Given the description of an element on the screen output the (x, y) to click on. 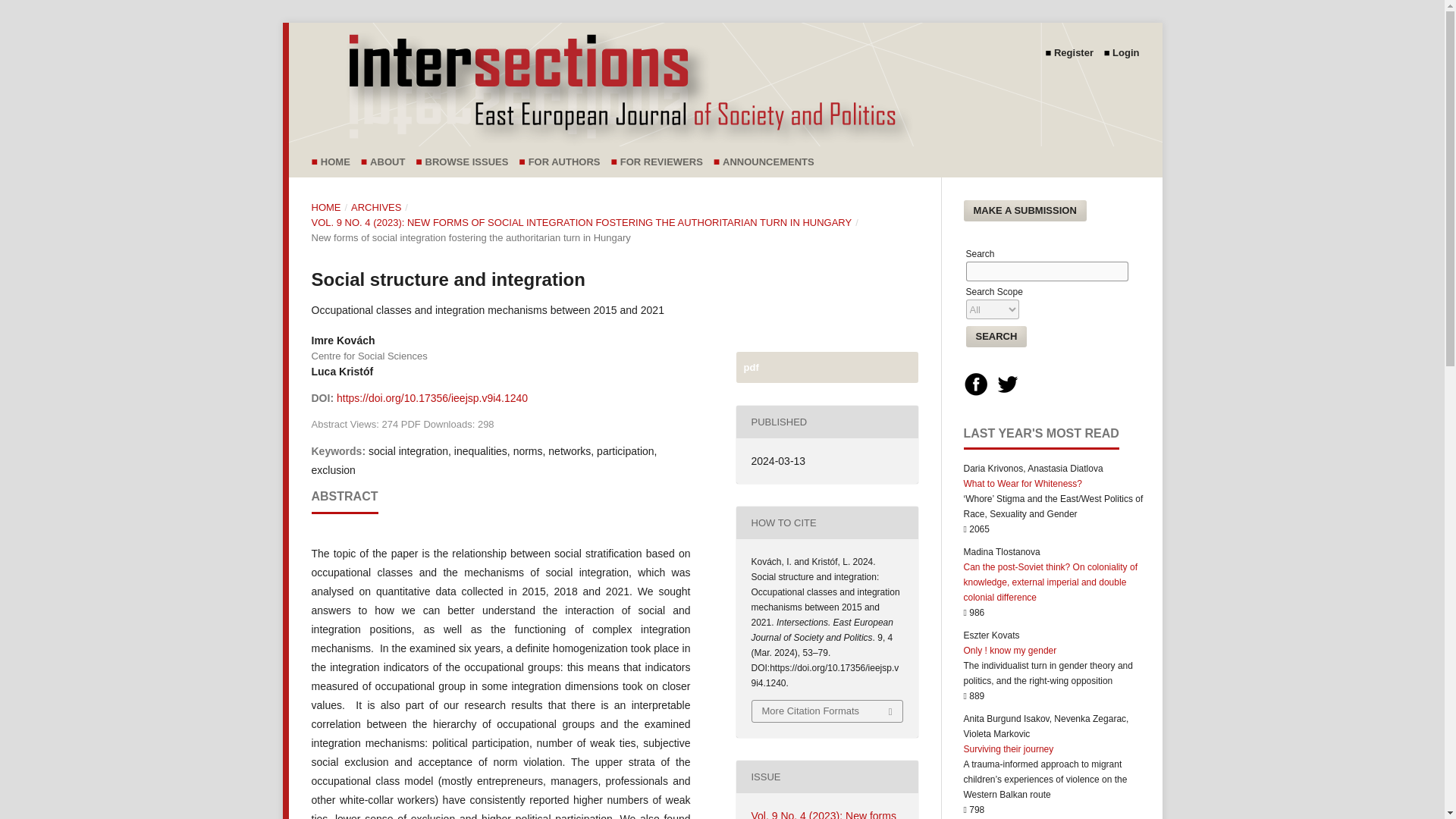
ieejsp facebook (974, 393)
SEARCH (996, 336)
More Citation Formats (827, 711)
Login (1125, 52)
MAKE A SUBMISSION (1024, 210)
FOR AUTHORS (568, 162)
ieejsp twitter (1007, 393)
FOR REVIEWERS (665, 162)
ANNOUNCEMENTS (772, 162)
ARCHIVES (375, 207)
pdf (826, 367)
HOME (339, 162)
HOME (325, 207)
ABOUT (390, 162)
Register (1077, 52)
